Given the description of an element on the screen output the (x, y) to click on. 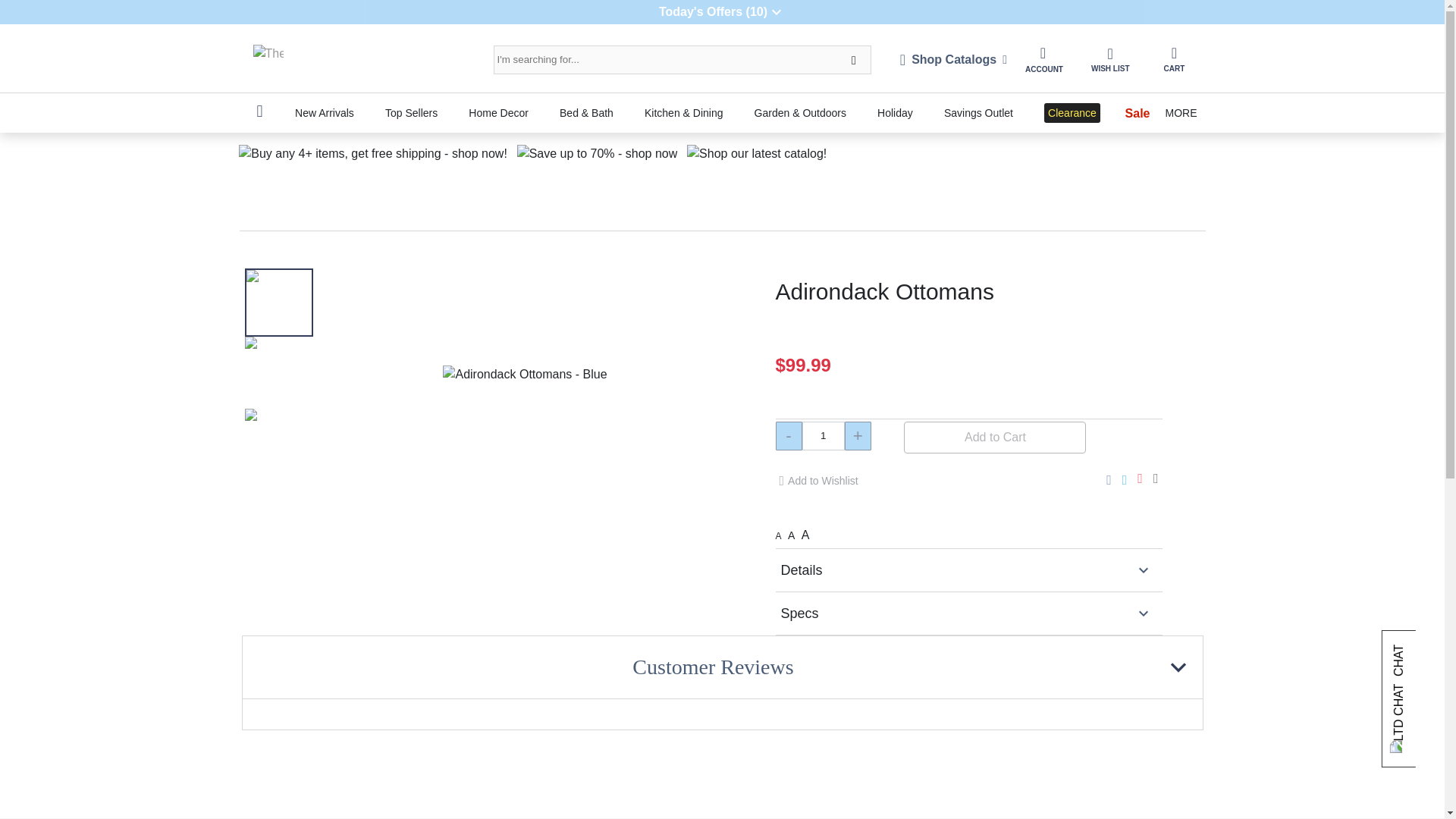
Adirondack Ottomans - White (278, 441)
Adirondack Ottomans - Blue (524, 374)
WISH LIST (1109, 59)
Adirondack Ottomans - Blue (278, 369)
Adirondack Ottomans - Blue (278, 302)
Home Decor (498, 112)
1 (823, 435)
The Lakeside Collection (268, 60)
CART (1173, 59)
New Arrivals (323, 112)
Top Sellers (411, 112)
